Given the description of an element on the screen output the (x, y) to click on. 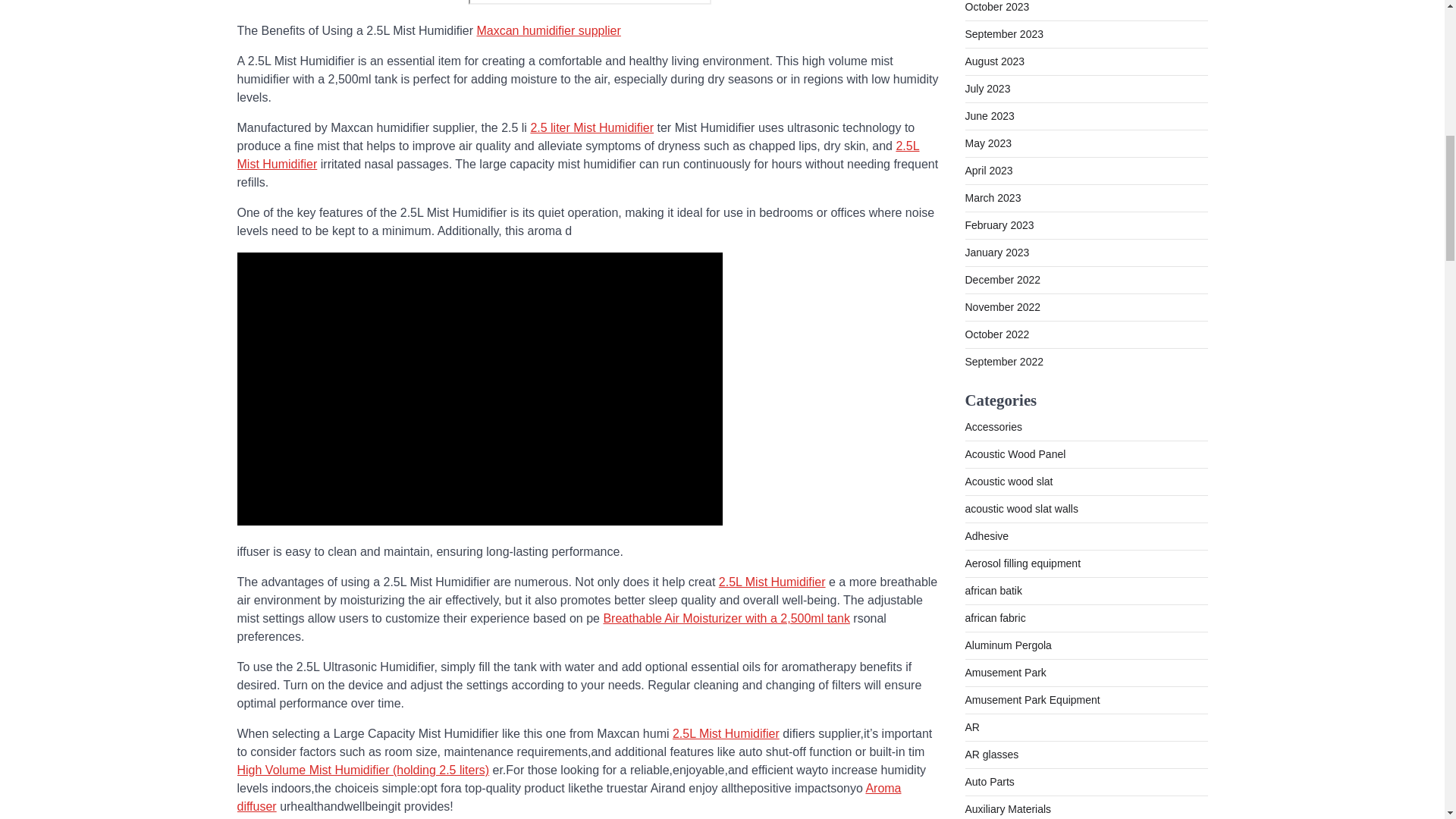
October 2023 (996, 6)
2.5L Mist Humidifier (576, 154)
Breathable Air Moisturizer with a 2,500ml tank (725, 617)
2.5L Mist Humidifier (725, 733)
September 2023 (1003, 33)
August 2023 (994, 61)
Maxcan humidifier supplier (548, 30)
Aroma diffuser (568, 797)
June 2023 (988, 115)
July 2023 (986, 88)
